Given the description of an element on the screen output the (x, y) to click on. 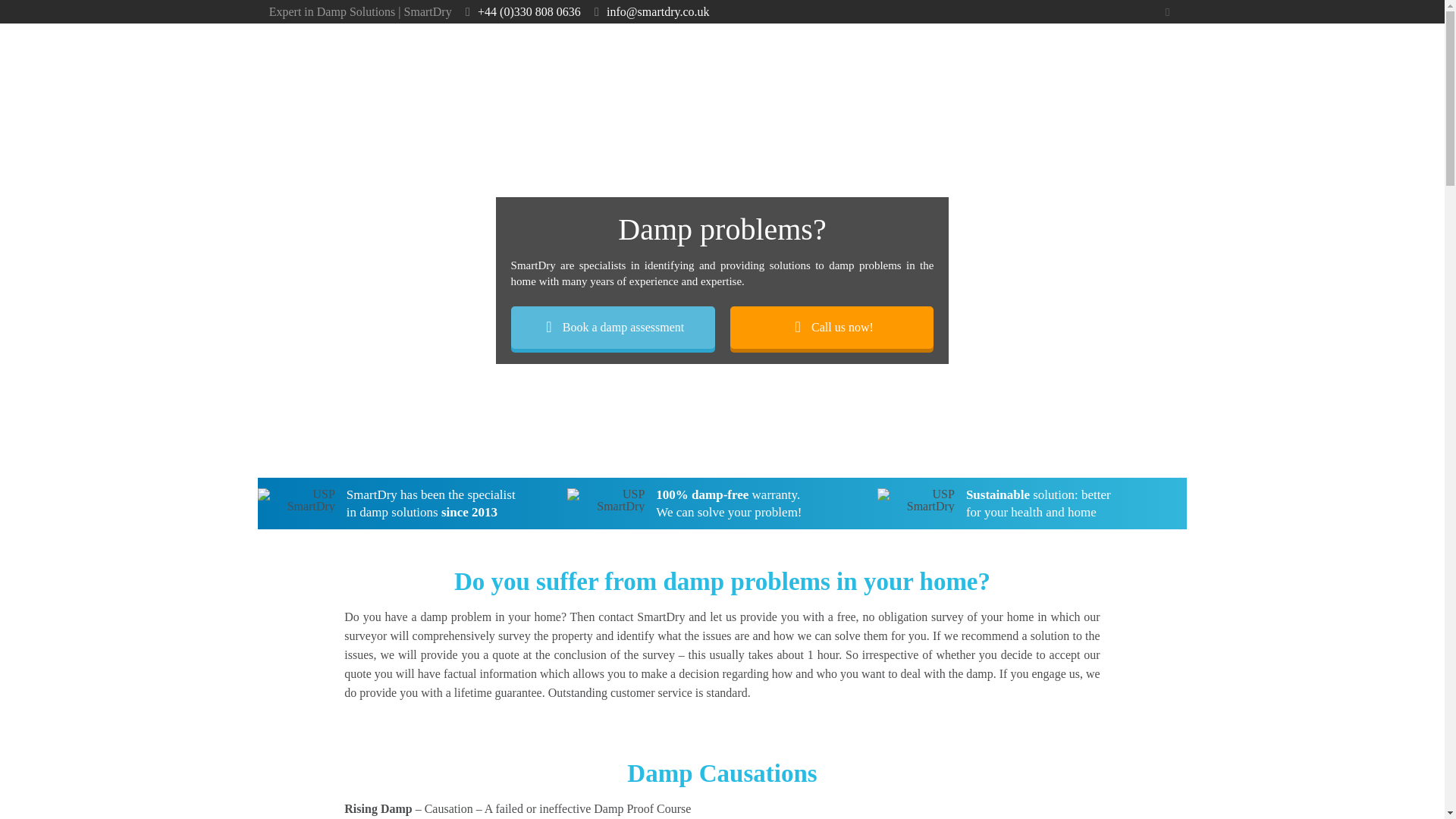
Book a damp assessment (612, 327)
Call us now! (831, 327)
USP SmartDry (916, 500)
USP SmartDry (295, 500)
Call us now! (831, 327)
Facebook (1166, 11)
USP SmartDry (606, 500)
